Given the description of an element on the screen output the (x, y) to click on. 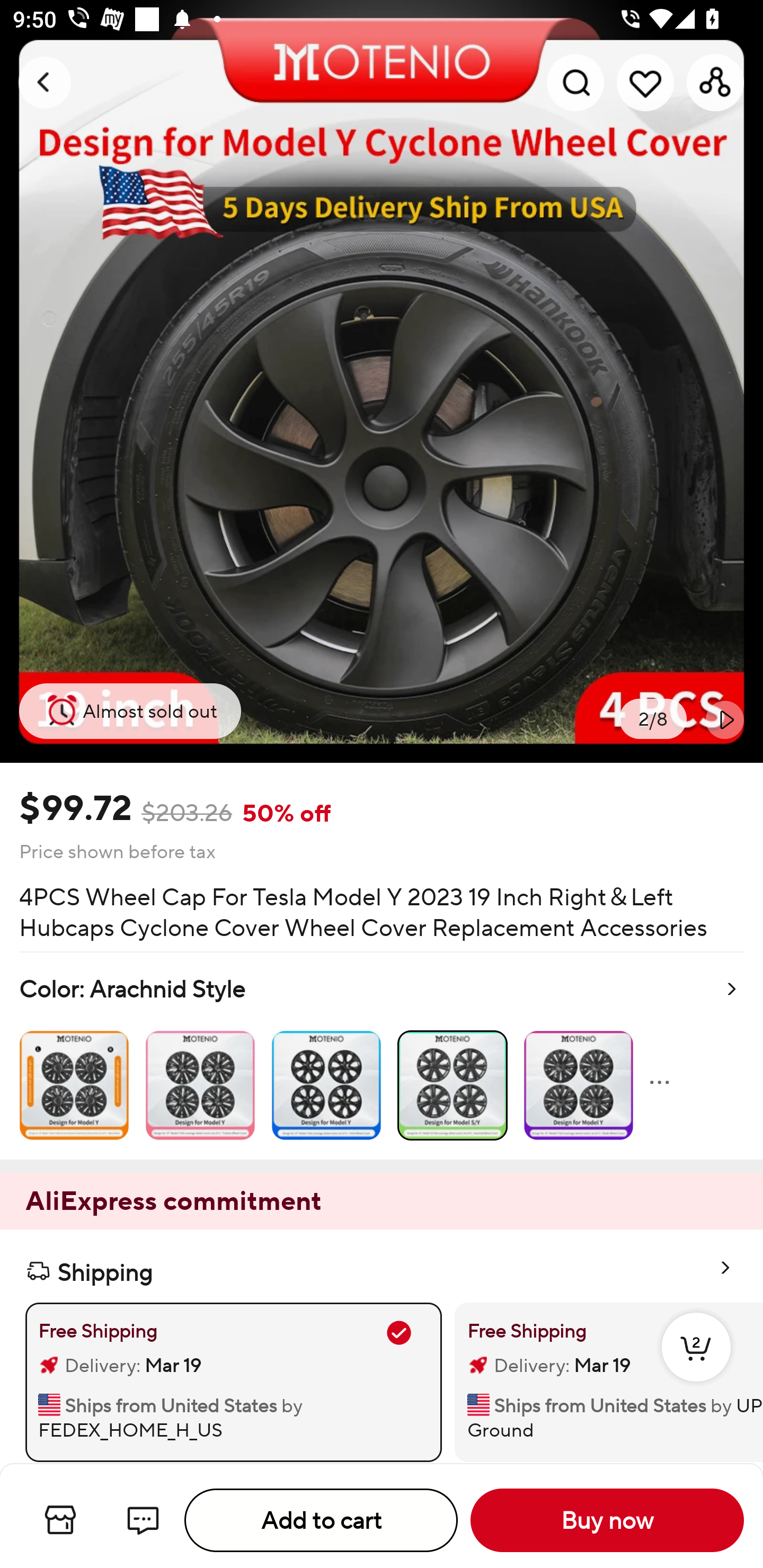
Navigate up (44, 82)
 (724, 719)
Color: Arachnid Style  (381, 1055)
2 (695, 1366)
Add to cart (320, 1520)
Buy now (606, 1520)
